Given the description of an element on the screen output the (x, y) to click on. 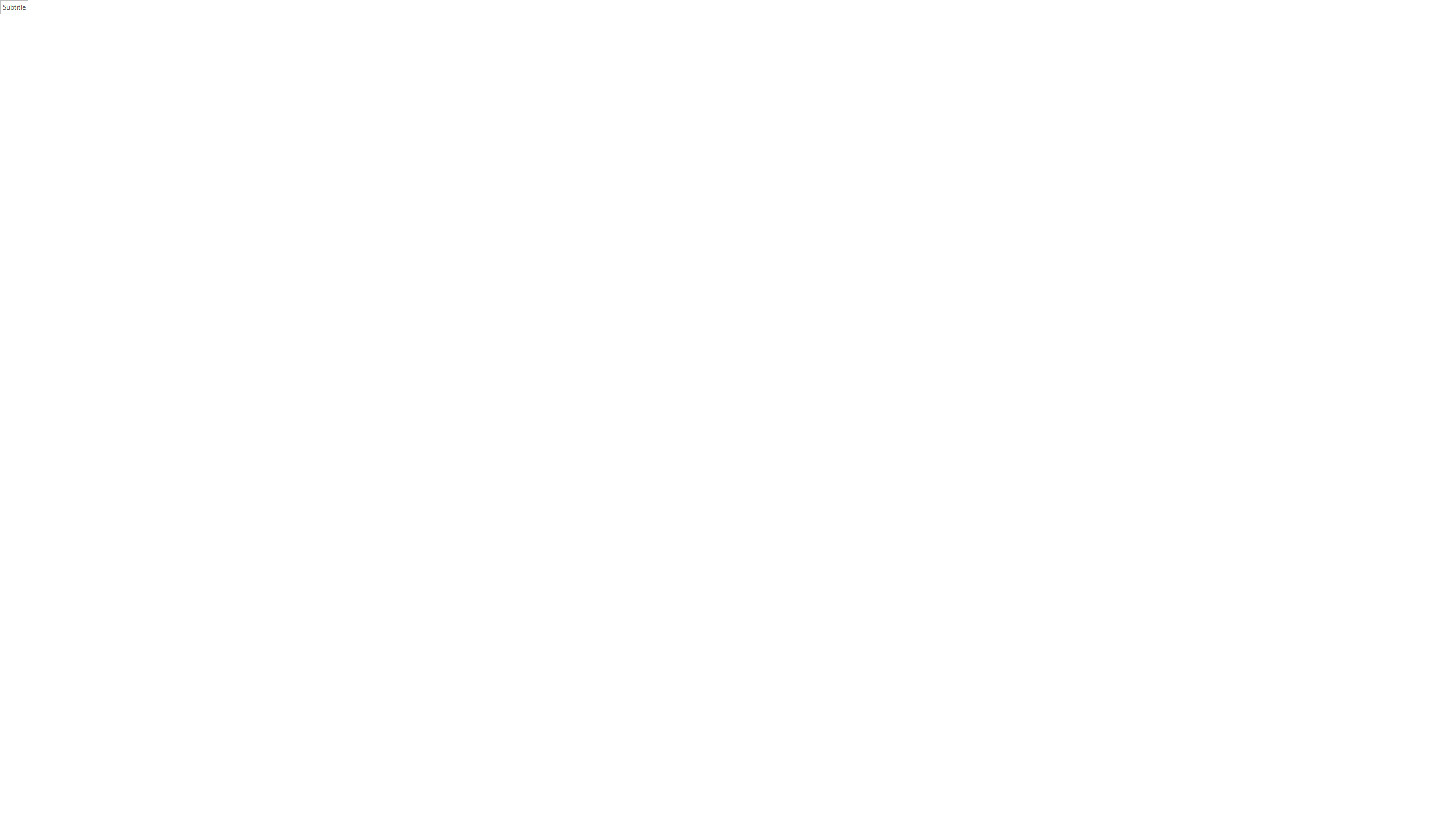
Accessibility Checker Accessibility: Good to go (261, 790)
Clear Formatting (250, 49)
Undo Apply Quick Style (92, 9)
Copy (45, 58)
Can't Repeat (117, 9)
Line and Paragraph Spacing (376, 67)
